Given the description of an element on the screen output the (x, y) to click on. 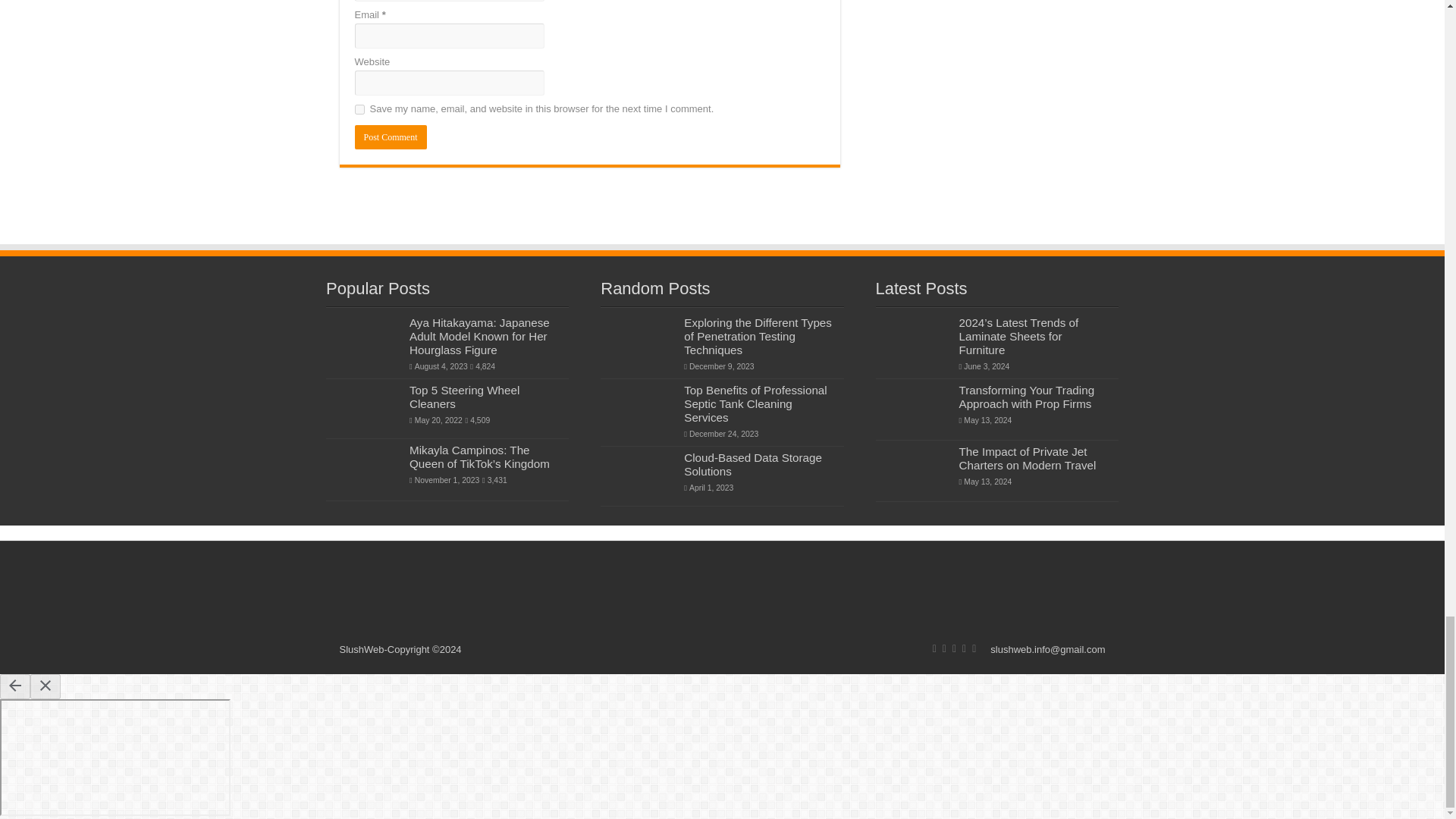
yes (360, 109)
Post Comment (390, 137)
